Given the description of an element on the screen output the (x, y) to click on. 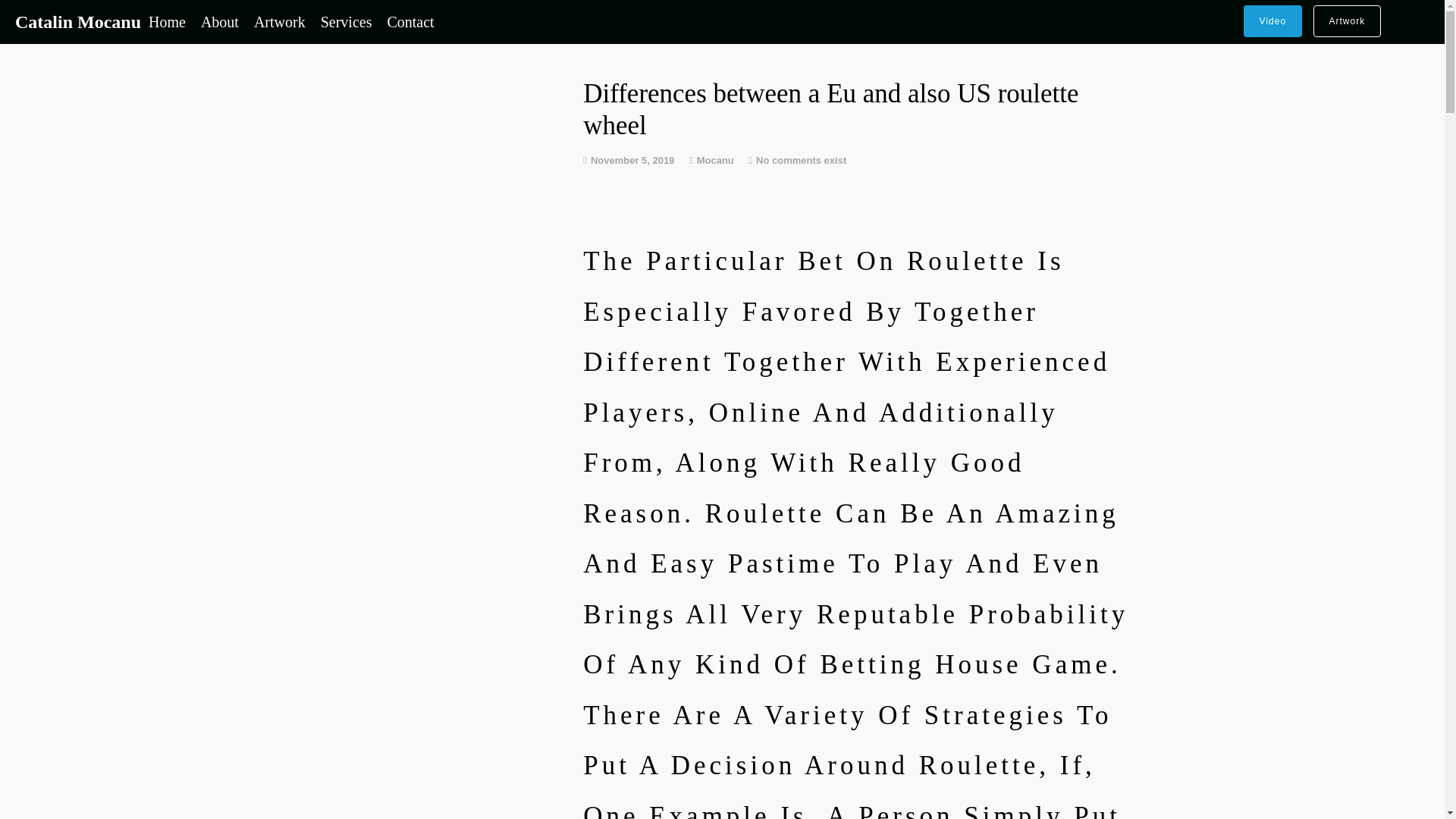
Video (1272, 20)
Contact (409, 22)
Artwork (279, 22)
Services (346, 22)
Artwork (1347, 20)
About (219, 22)
No comments exist (800, 160)
Home (167, 22)
Catalin Mocanu (77, 21)
